Given the description of an element on the screen output the (x, y) to click on. 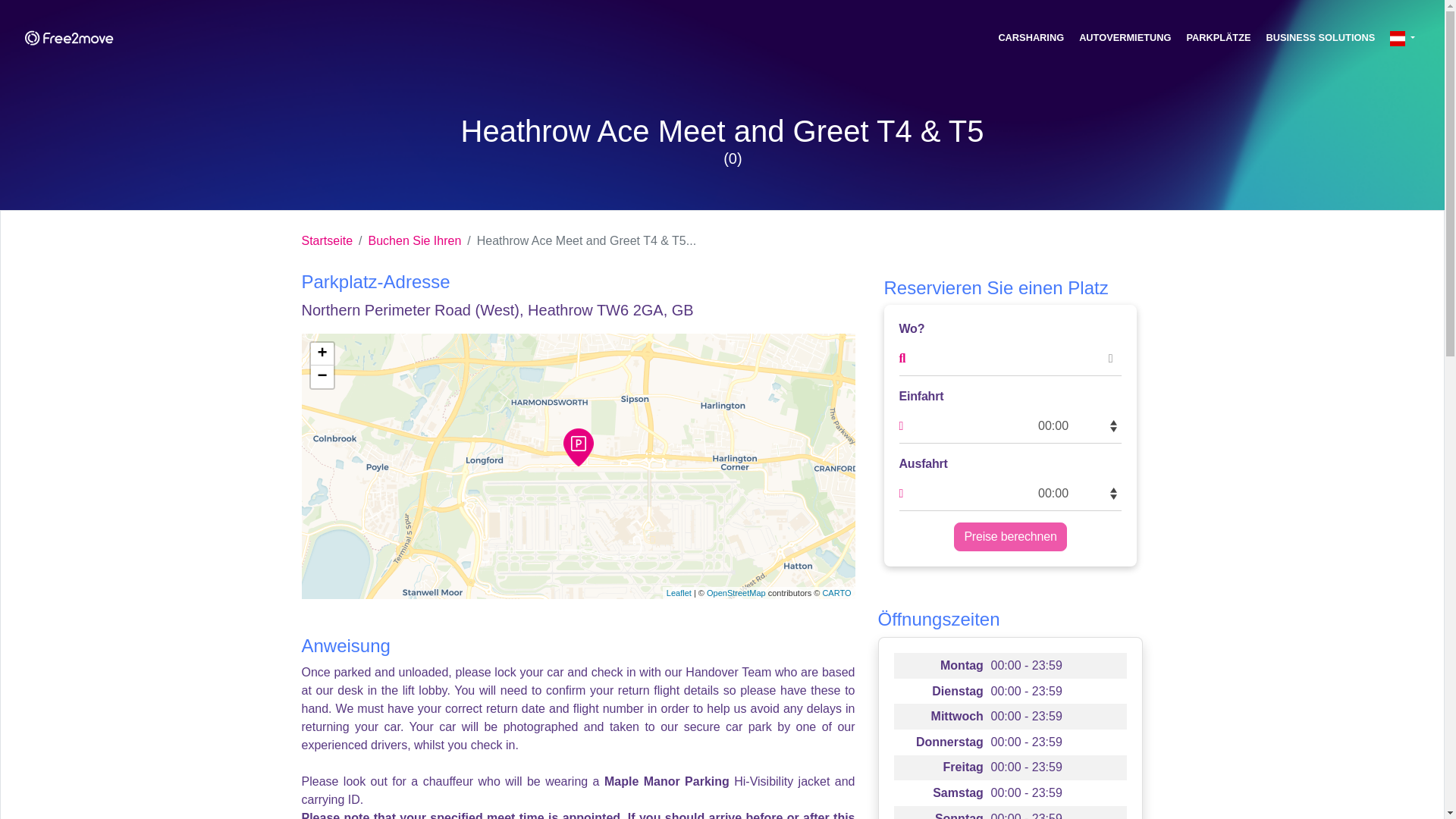
AUTOVERMIETUNG (1124, 37)
A JS library for interactive maps (678, 592)
Zoom out (322, 376)
Buchen Sie Ihren (406, 240)
Zoom in (322, 354)
BUSINESS SOLUTIONS (1320, 37)
CARSHARING (1030, 37)
Startseite (327, 240)
